Given the description of an element on the screen output the (x, y) to click on. 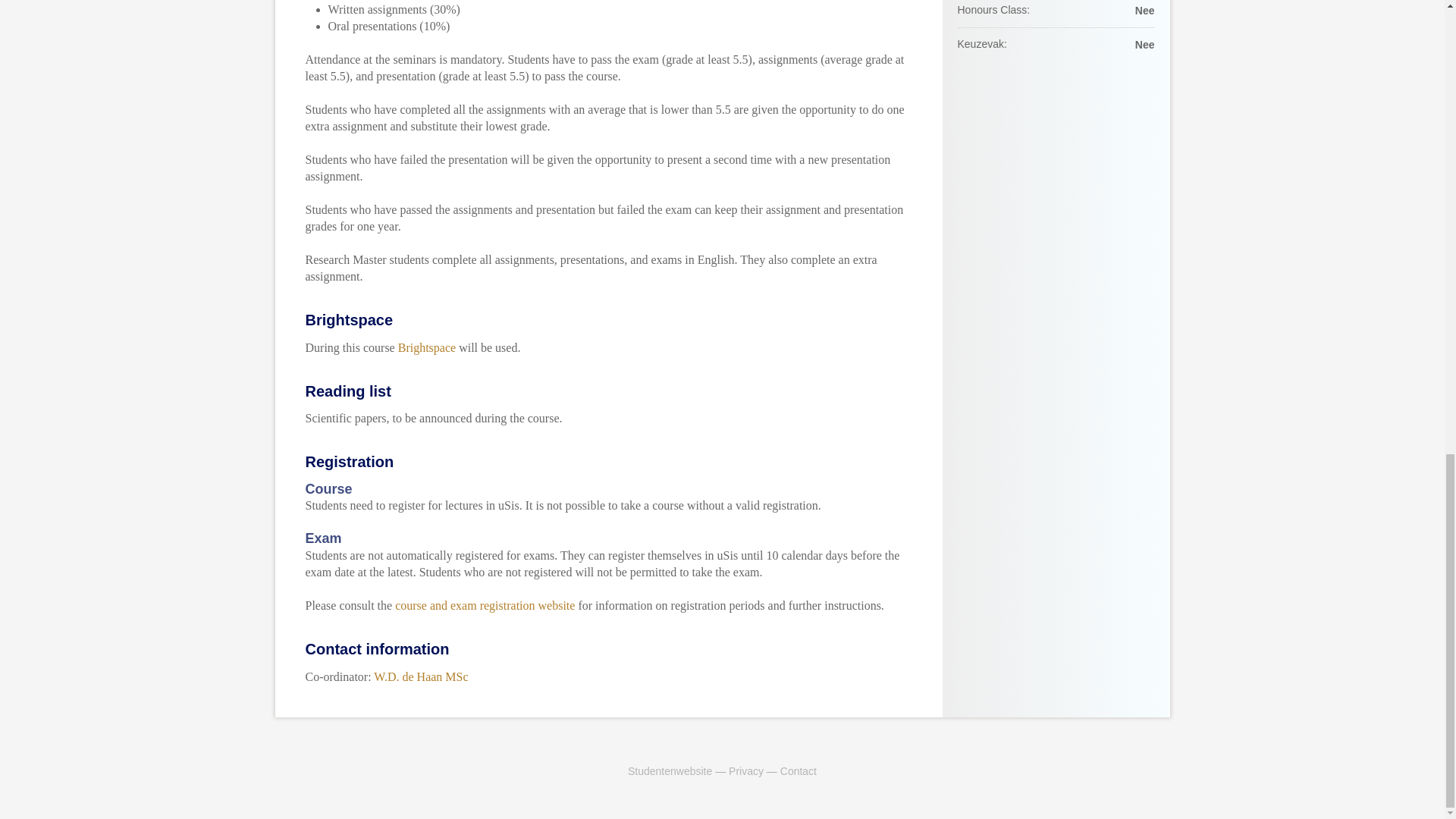
Brightspace (426, 346)
course and exam registration website (484, 604)
Contact (798, 770)
Privacy (745, 770)
Studentenwebsite (669, 770)
W.D. de Haan MSc (420, 676)
